Given the description of an element on the screen output the (x, y) to click on. 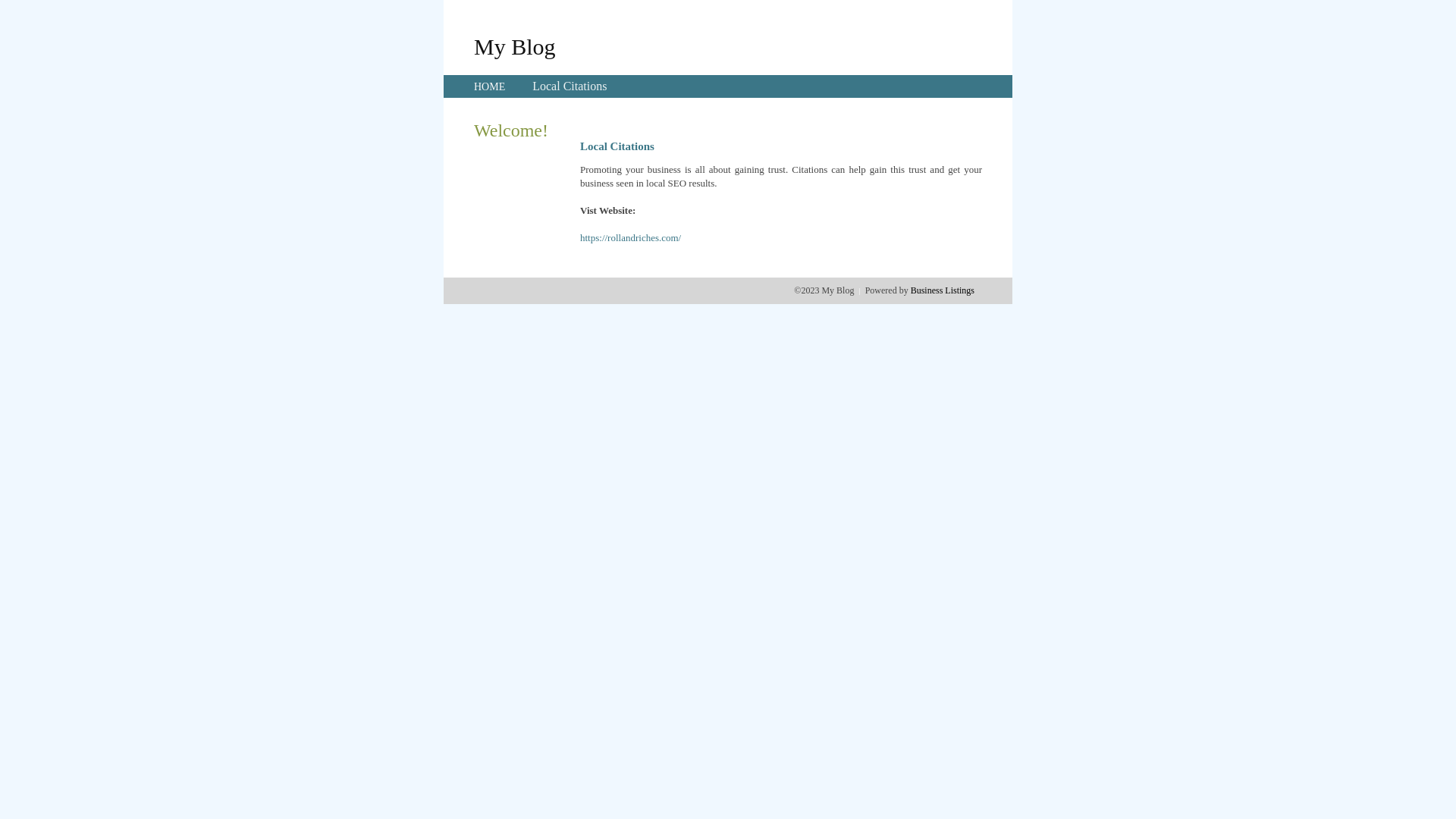
HOME Element type: text (489, 86)
Local Citations Element type: text (569, 85)
https://rollandriches.com/ Element type: text (630, 237)
My Blog Element type: text (514, 46)
Business Listings Element type: text (942, 290)
